Given the description of an element on the screen output the (x, y) to click on. 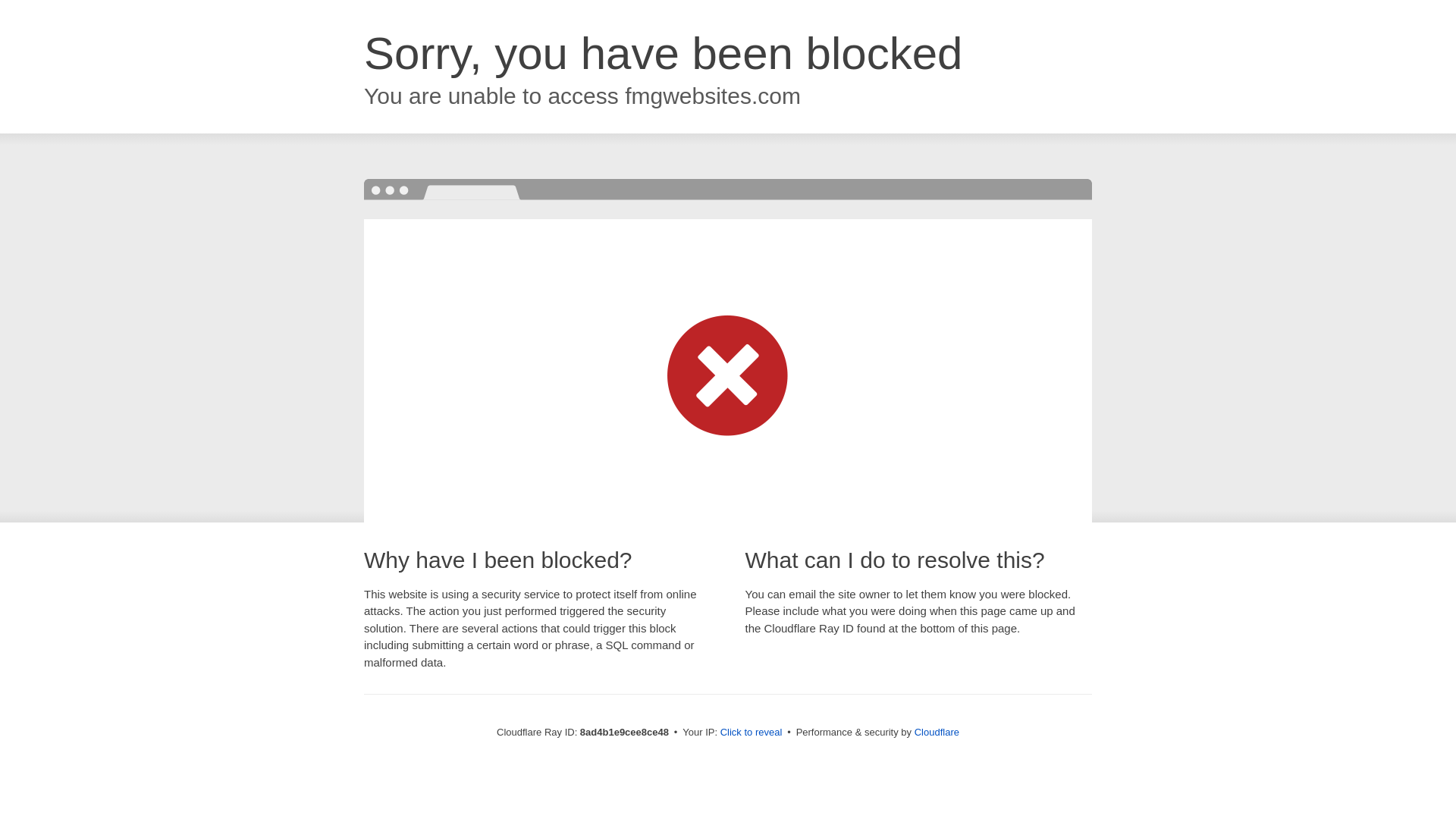
Click to reveal (751, 732)
Cloudflare (936, 731)
